Given the description of an element on the screen output the (x, y) to click on. 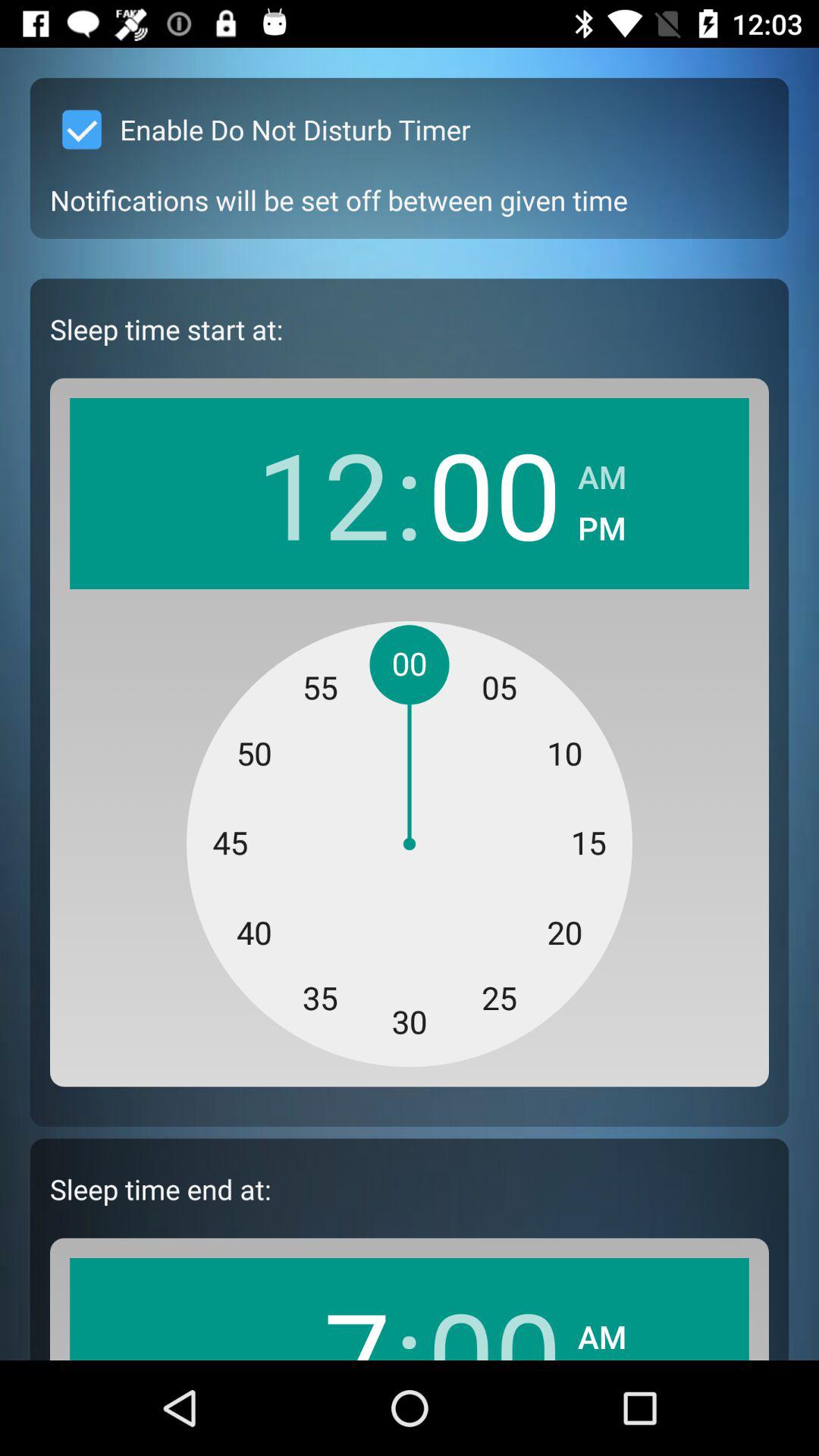
turn on 7 (323, 1317)
